Given the description of an element on the screen output the (x, y) to click on. 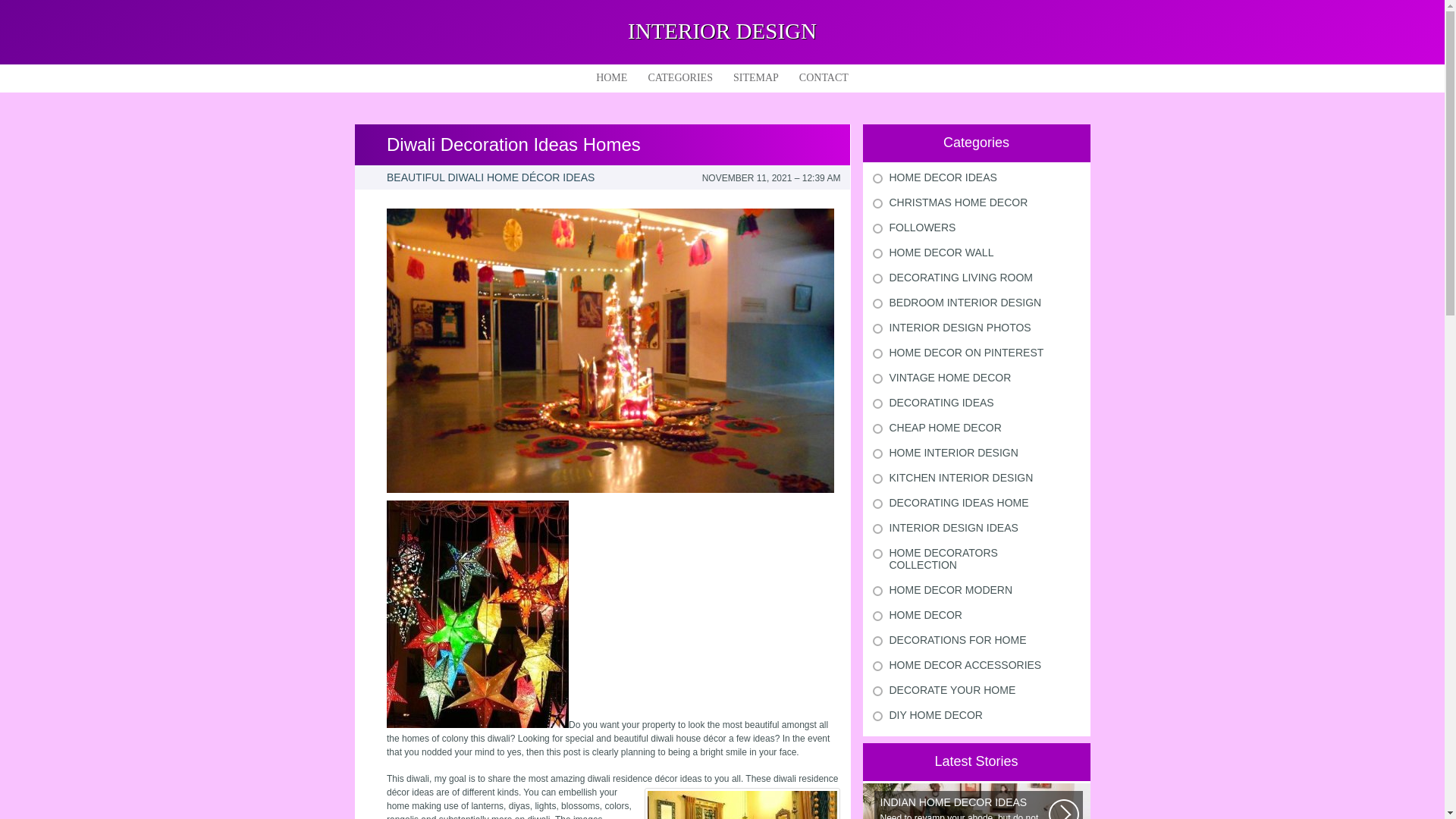
HOME (611, 77)
View all posts filed under Home Interior Design (952, 452)
View all posts filed under Decorating Ideas (940, 402)
DECORATING LIVING ROOM (960, 277)
View all posts filed under Interior Design Ideas (952, 527)
View all posts filed under Home Decorators Collection (942, 558)
View all posts filed under Decorating Ideas Home (957, 502)
SITEMAP (755, 77)
View all posts filed under Cheap Home Decor (944, 427)
CHRISTMAS HOME DECOR (957, 202)
FOLLOWERS (921, 227)
CATEGORIES (680, 77)
View all posts filed under Kitchen Interior Design (960, 477)
INTERIOR DESIGN (721, 30)
View all posts filed under Home Decor On Pinterest (965, 352)
